Given the description of an element on the screen output the (x, y) to click on. 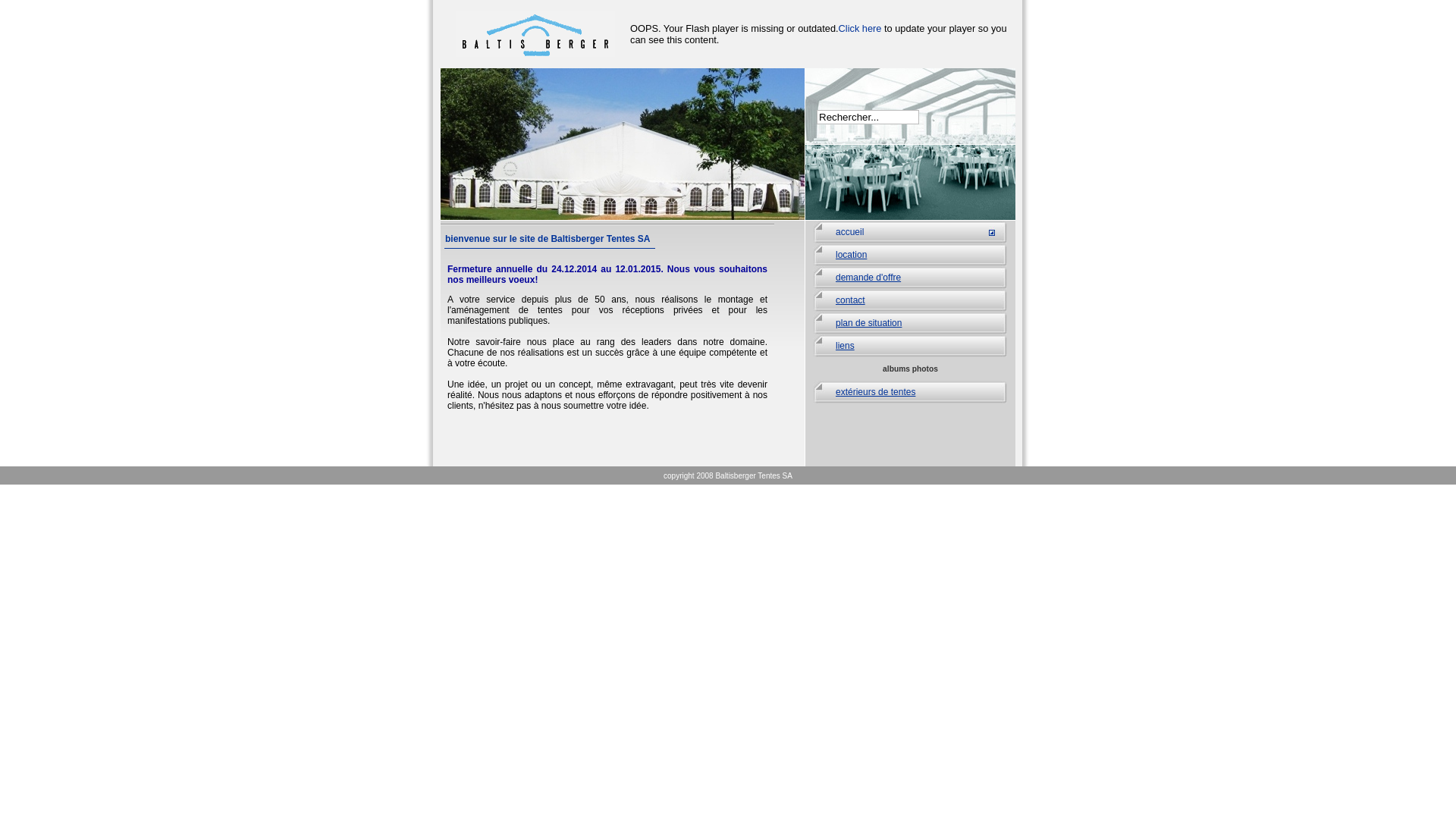
accueil Element type: text (909, 231)
liens Element type: text (909, 345)
contact Element type: text (909, 299)
plan de situation Element type: text (909, 322)
demande d'offre Element type: text (909, 277)
location Element type: text (909, 254)
Click here Element type: text (859, 28)
